Given the description of an element on the screen output the (x, y) to click on. 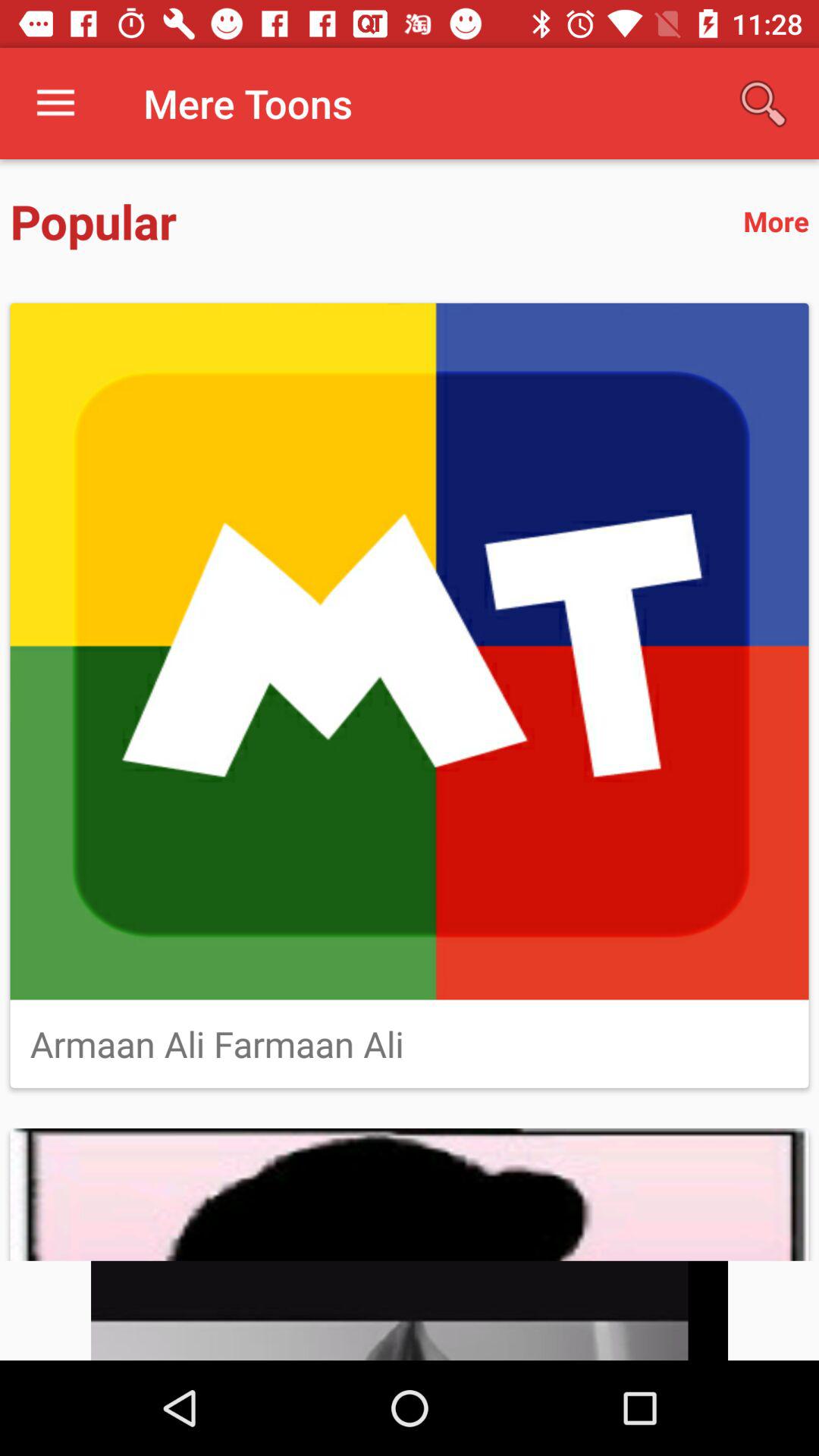
select icon to the right of the mere toons icon (763, 103)
